Given the description of an element on the screen output the (x, y) to click on. 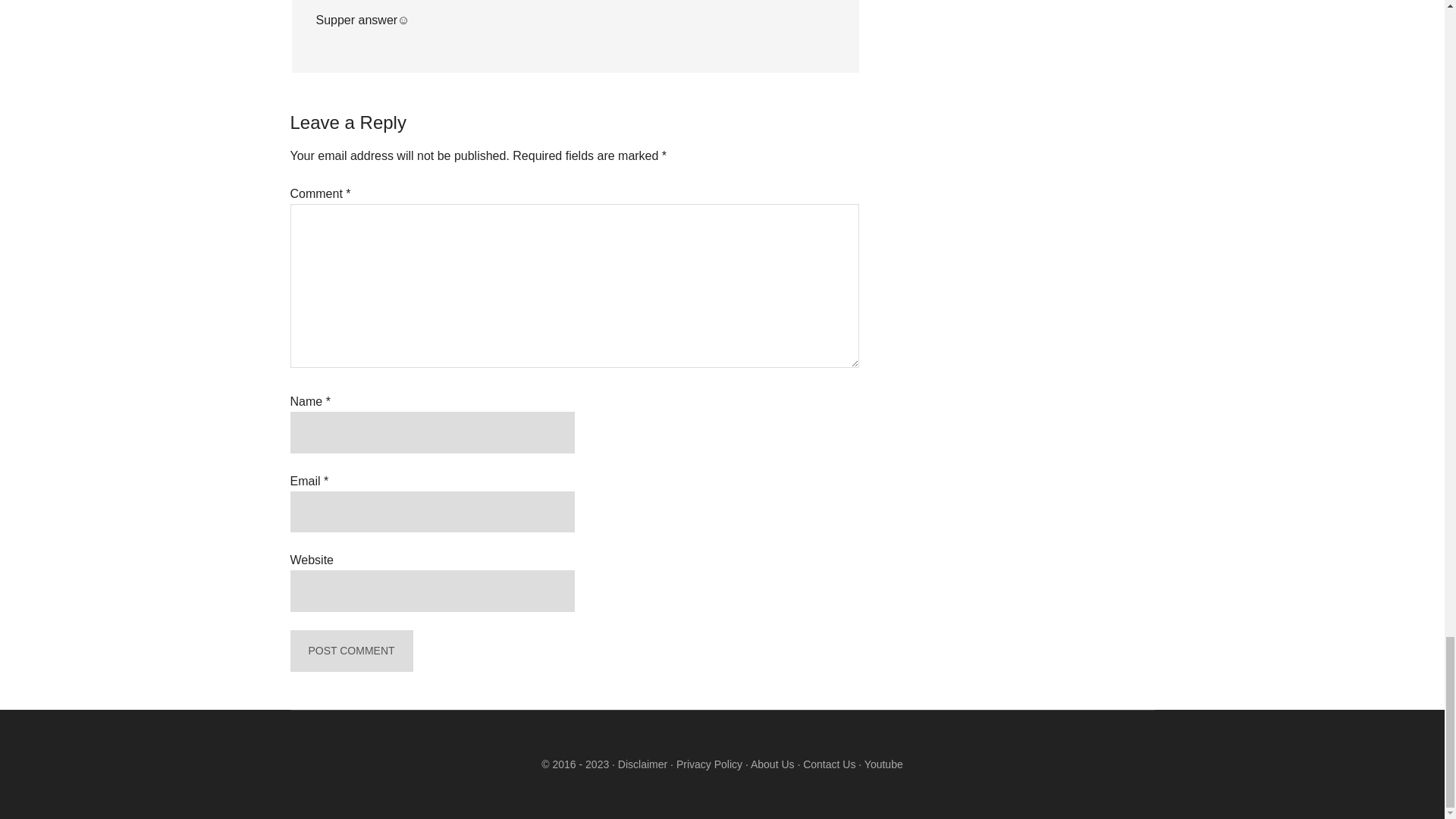
Post Comment (350, 650)
Post Comment (350, 650)
